Given the description of an element on the screen output the (x, y) to click on. 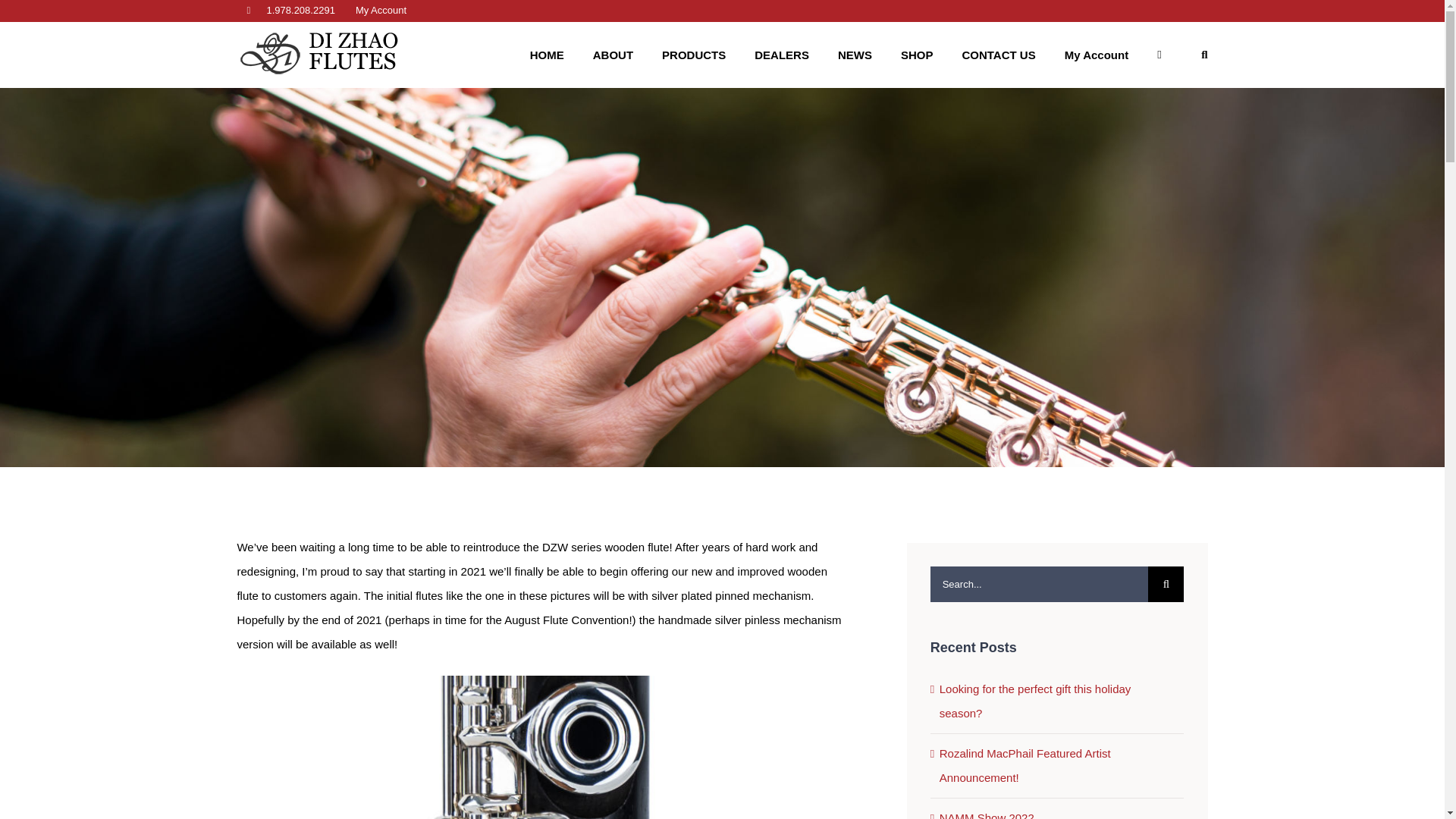
Log In (474, 160)
My Account (381, 10)
My Account (1096, 54)
PRODUCTS (693, 54)
CONTACT US (997, 54)
Log In (1156, 226)
1.978.208.2291 (289, 10)
